Given the description of an element on the screen output the (x, y) to click on. 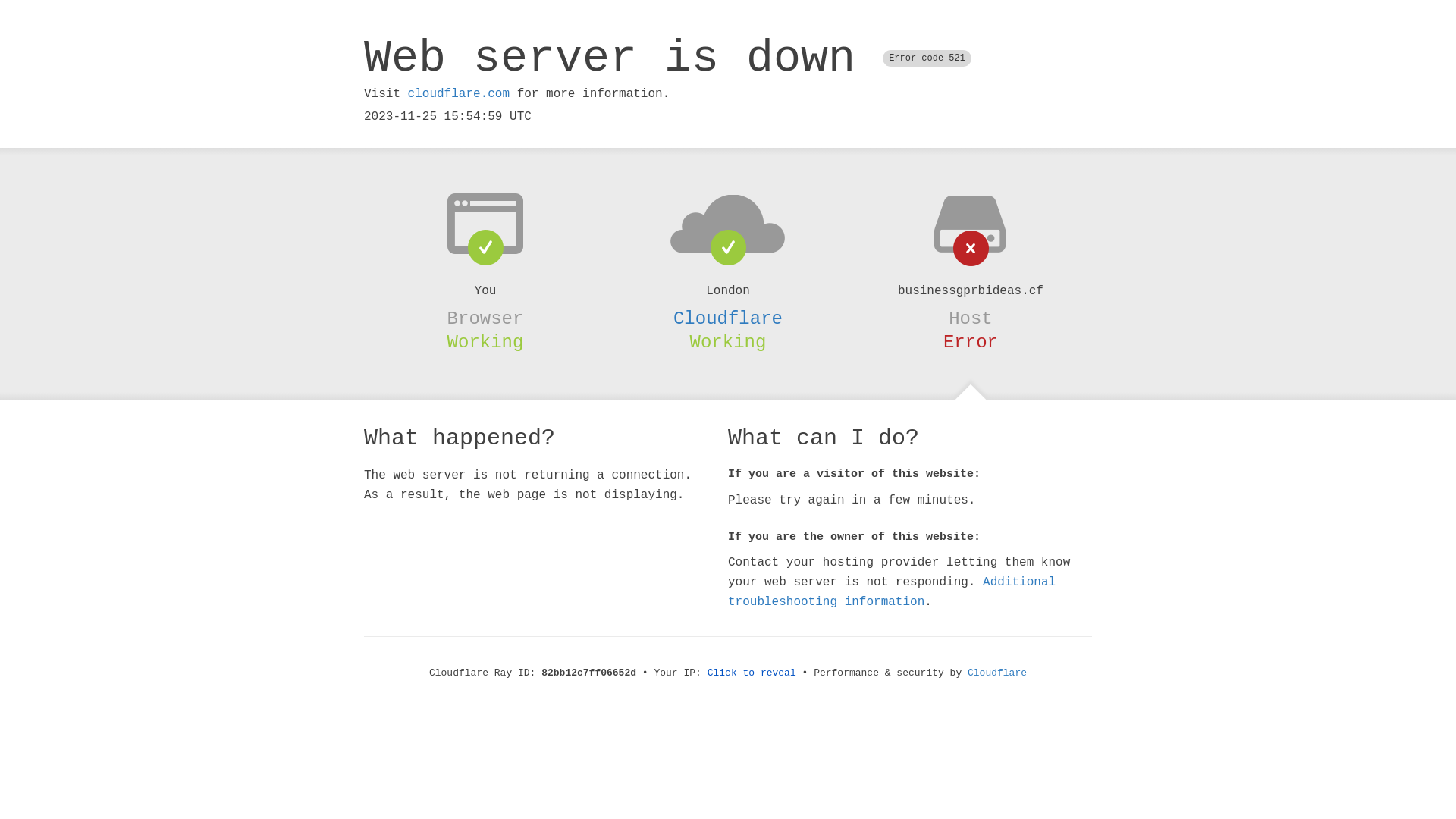
Click to reveal Element type: text (751, 672)
Additional troubleshooting information Element type: text (891, 591)
cloudflare.com Element type: text (458, 93)
Cloudflare Element type: text (996, 672)
Cloudflare Element type: text (727, 318)
